Given the description of an element on the screen output the (x, y) to click on. 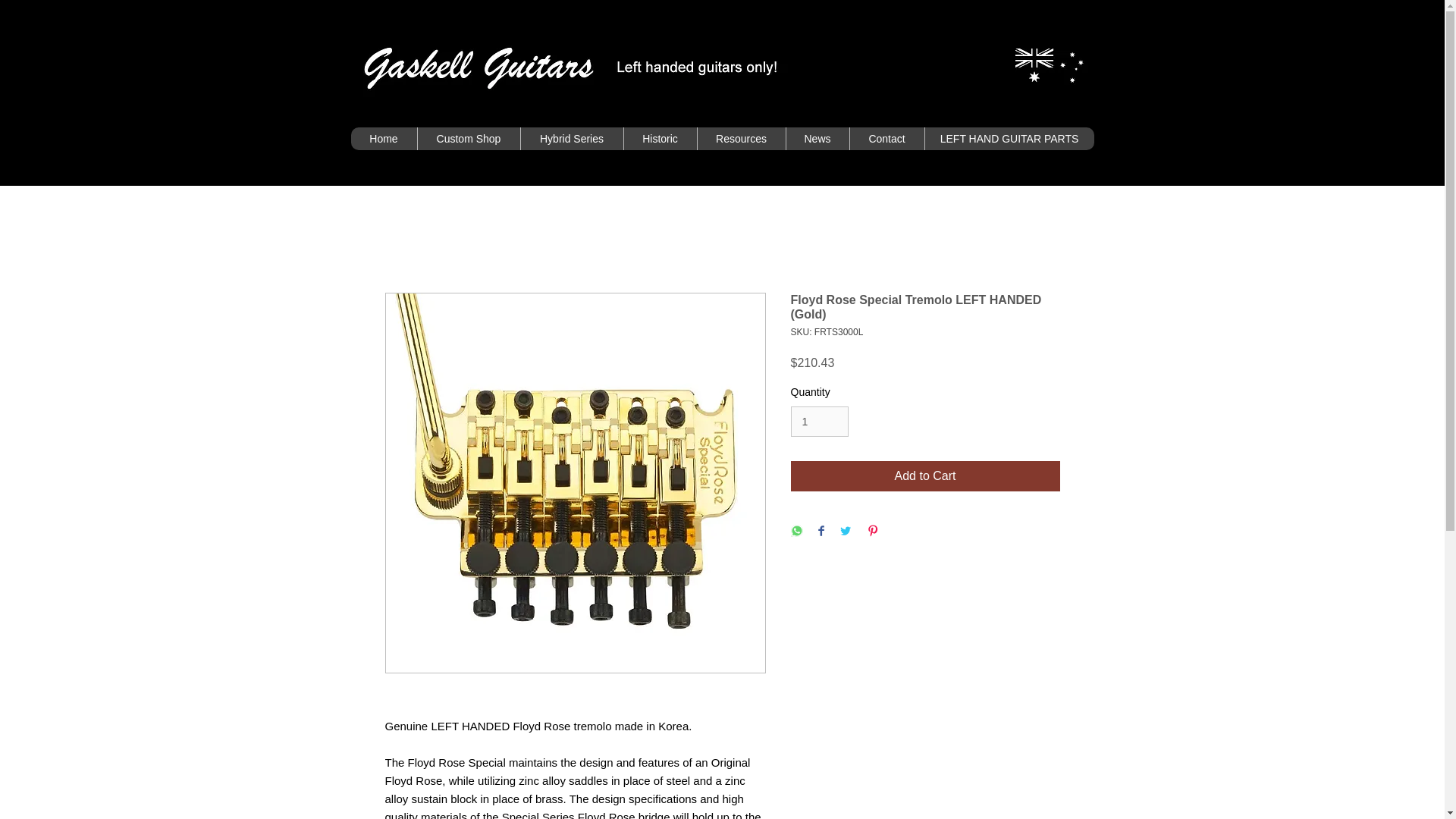
Resources (739, 138)
Home (383, 138)
Hybrid Series (571, 138)
Historic (660, 138)
1 (818, 421)
Custom Shop (467, 138)
